Given the description of an element on the screen output the (x, y) to click on. 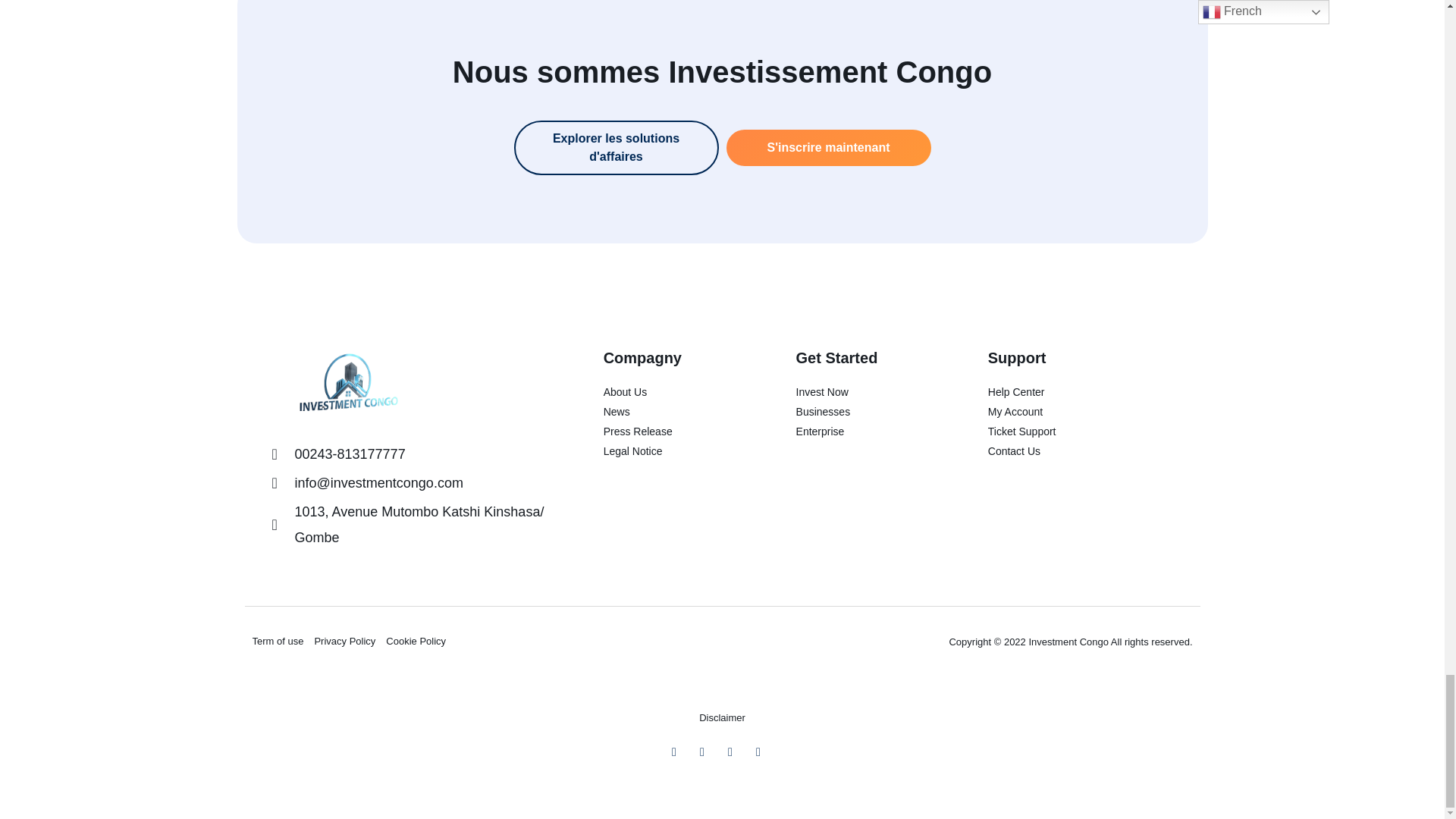
Press Release (672, 431)
Help Center (1080, 391)
Explorer les solutions d'affaires (616, 147)
Ticket Support (1080, 431)
S'inscrire maintenant (828, 147)
News (672, 411)
Businesses (864, 411)
My Account (1080, 411)
About Us (672, 391)
Legal Notice (672, 450)
Invest Now (864, 391)
Enterprise (864, 431)
Contact Us (1080, 450)
